Given the description of an element on the screen output the (x, y) to click on. 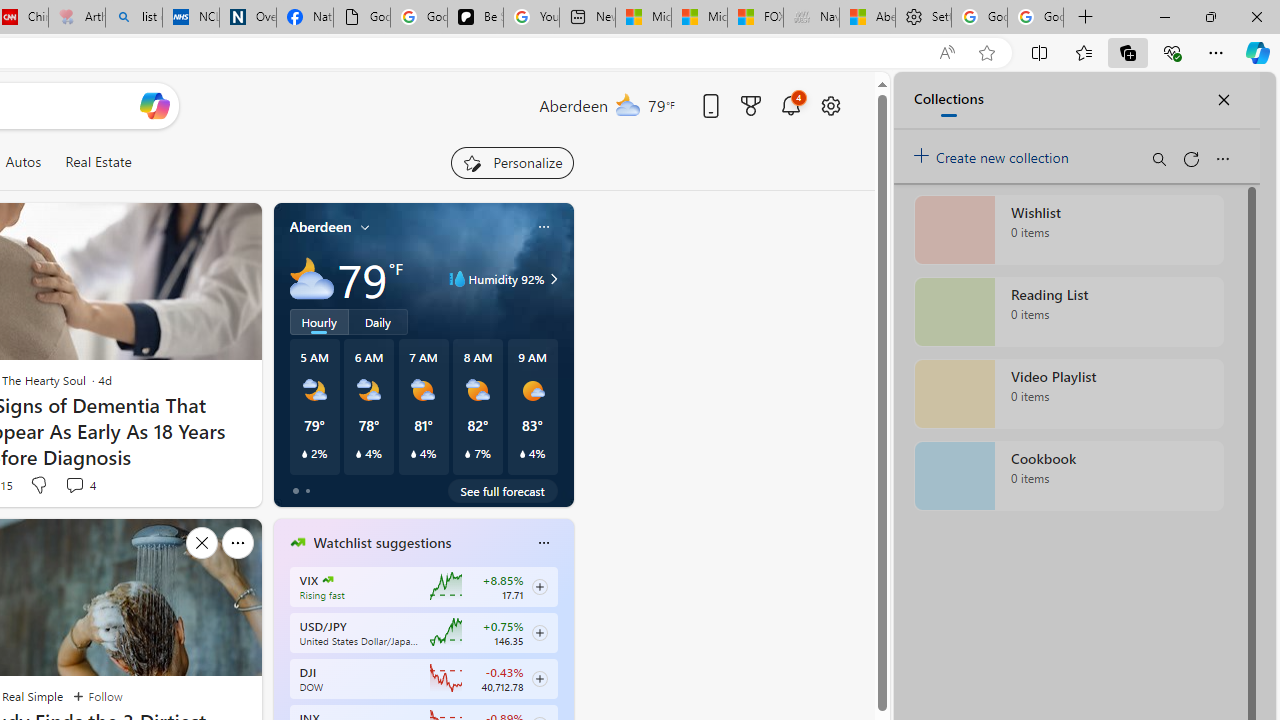
Hide this story (201, 542)
Class: weather-arrow-glyph (554, 278)
Personalize your feed" (511, 162)
CBOE Market Volatility Index (328, 579)
previous (283, 670)
My location (365, 227)
Aberdeen, Hong Kong SAR hourly forecast | Microsoft Weather (866, 17)
tab-0 (295, 490)
